Given the description of an element on the screen output the (x, y) to click on. 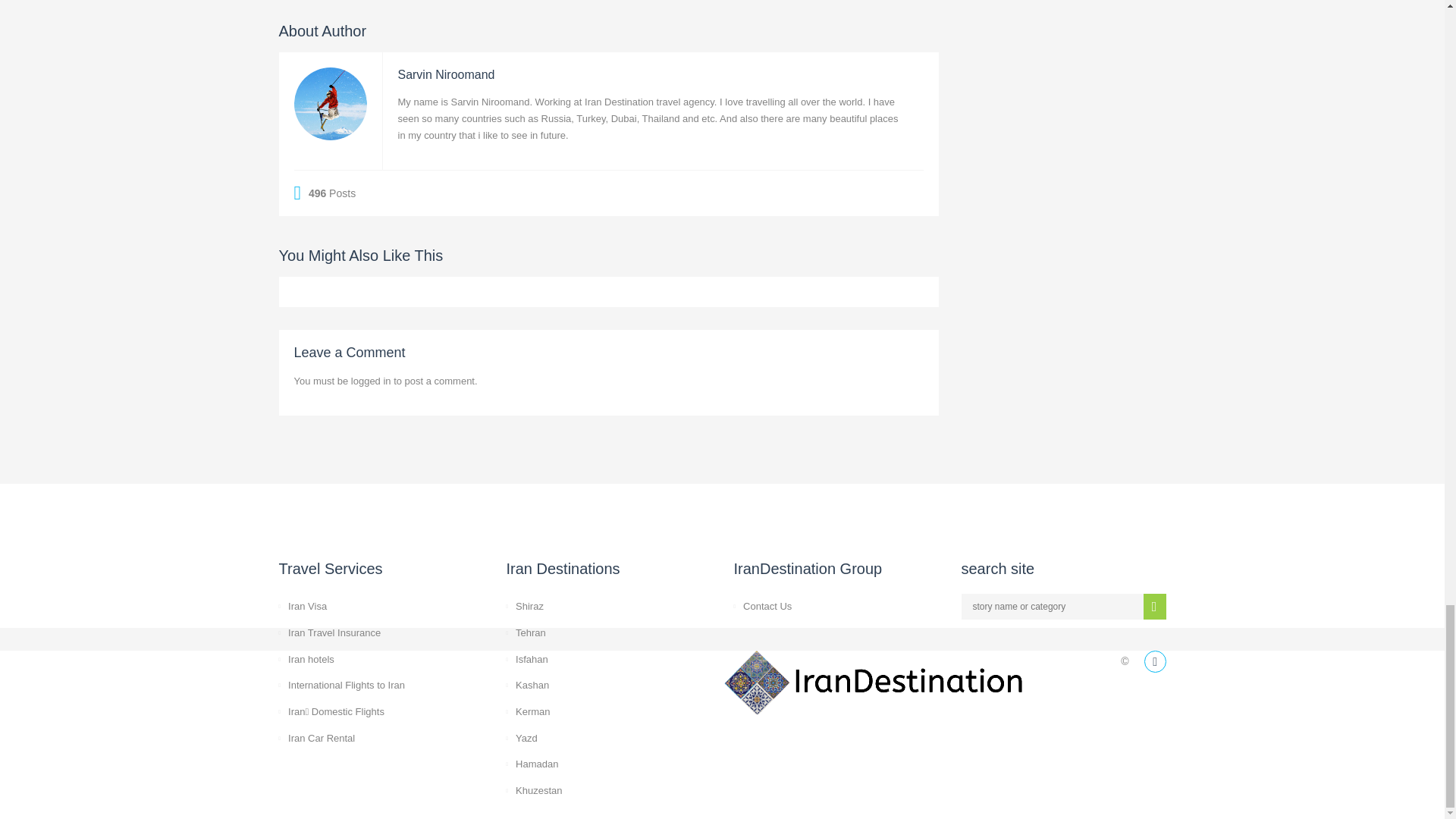
Posts by Sarvin Niroomand (446, 74)
